Given the description of an element on the screen output the (x, y) to click on. 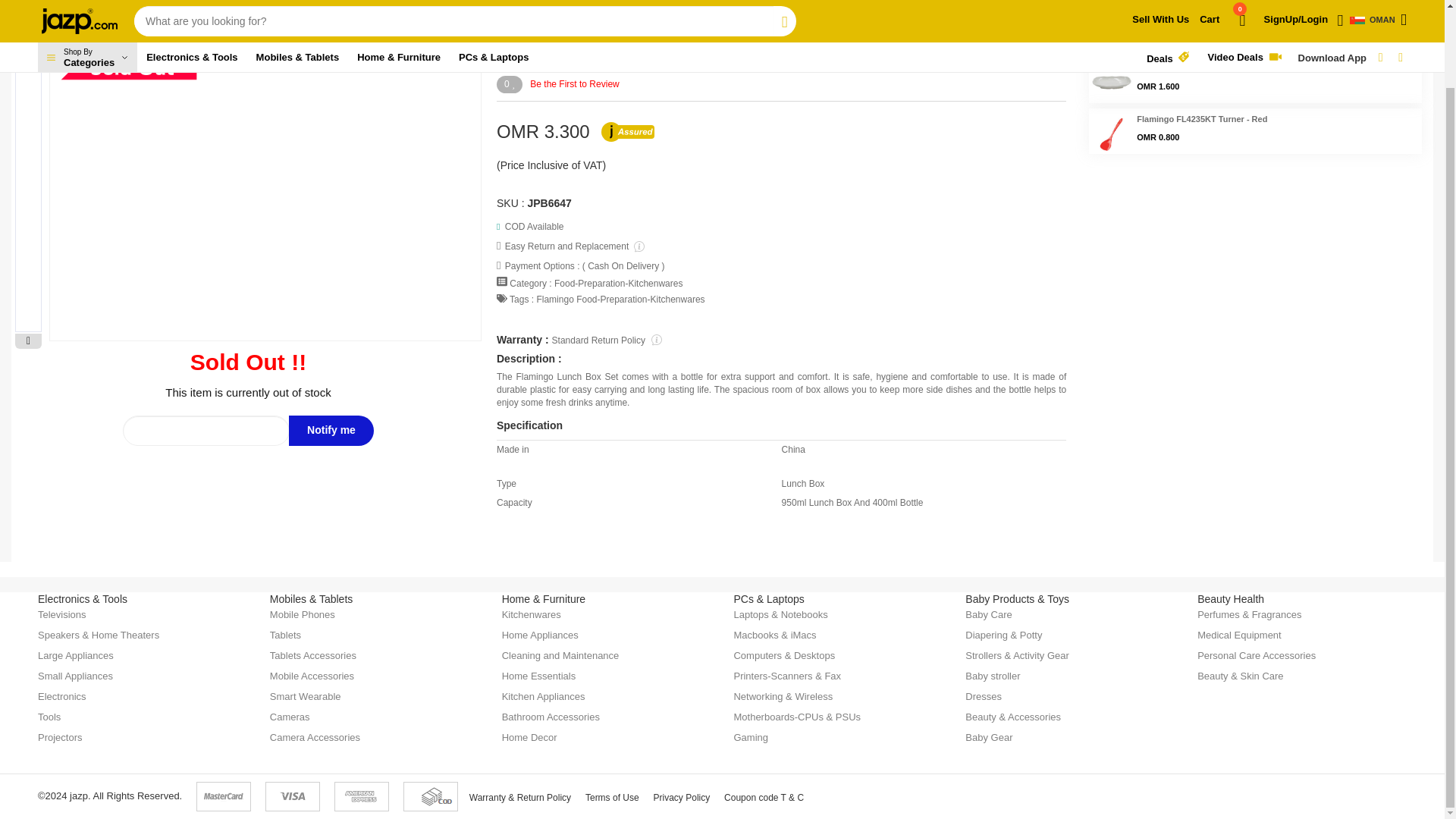
Notify me (331, 430)
